Given the description of an element on the screen output the (x, y) to click on. 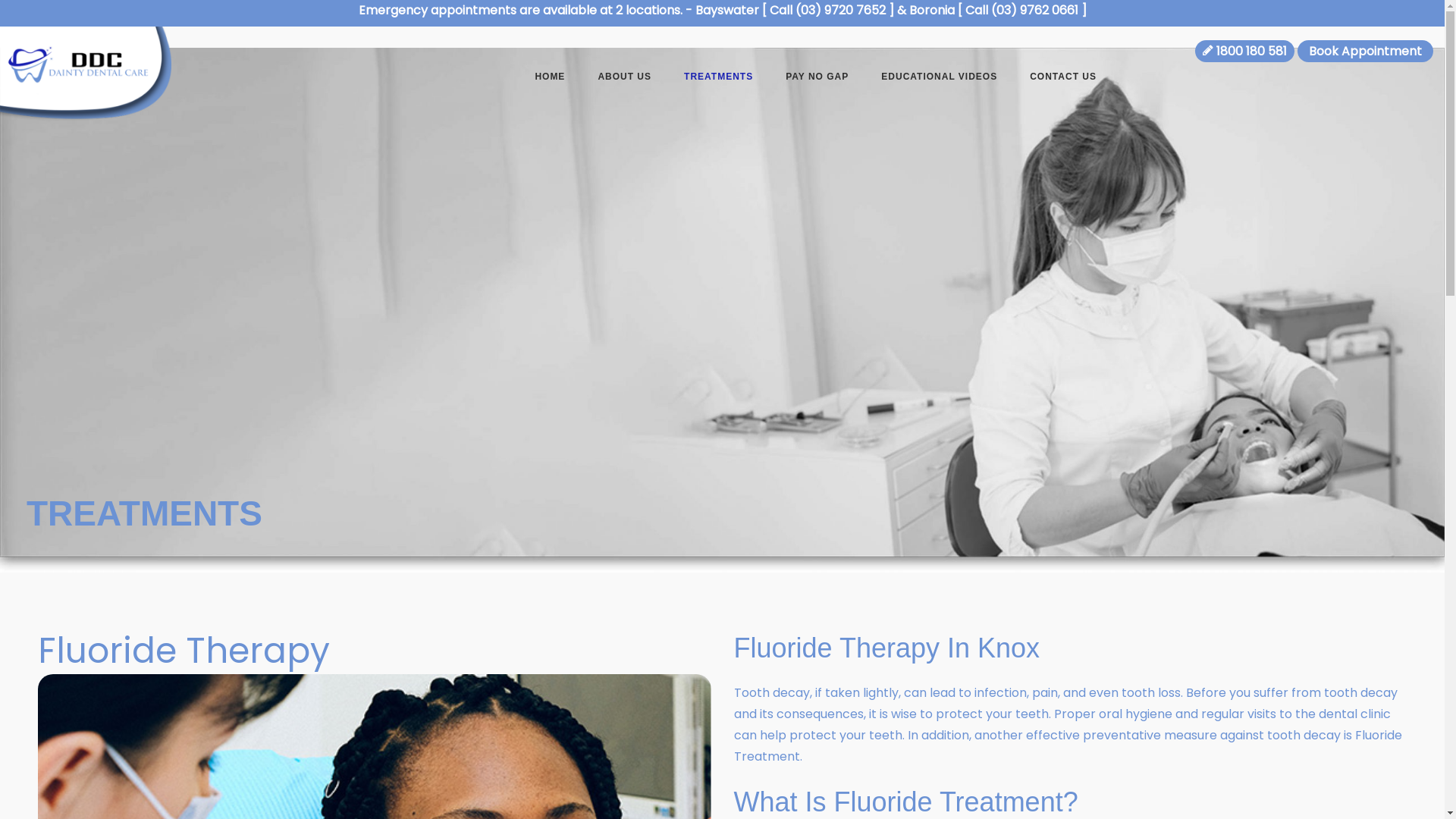
PAY NO GAP Element type: text (816, 78)
CONTACT US Element type: text (1062, 78)
[ Call (03) 9762 0661 ] Element type: text (1021, 9)
Home Element type: text (15, 138)
Book Appointment Element type: text (1364, 50)
EDUCATIONAL VIDEOS Element type: text (939, 78)
[ Call (03) 9720 7652 ] Element type: text (827, 9)
TREATMENTS Element type: text (718, 78)
1800 180 581 Element type: text (1244, 50)
HOME Element type: text (549, 78)
ABOUT US Element type: text (624, 78)
